Given the description of an element on the screen output the (x, y) to click on. 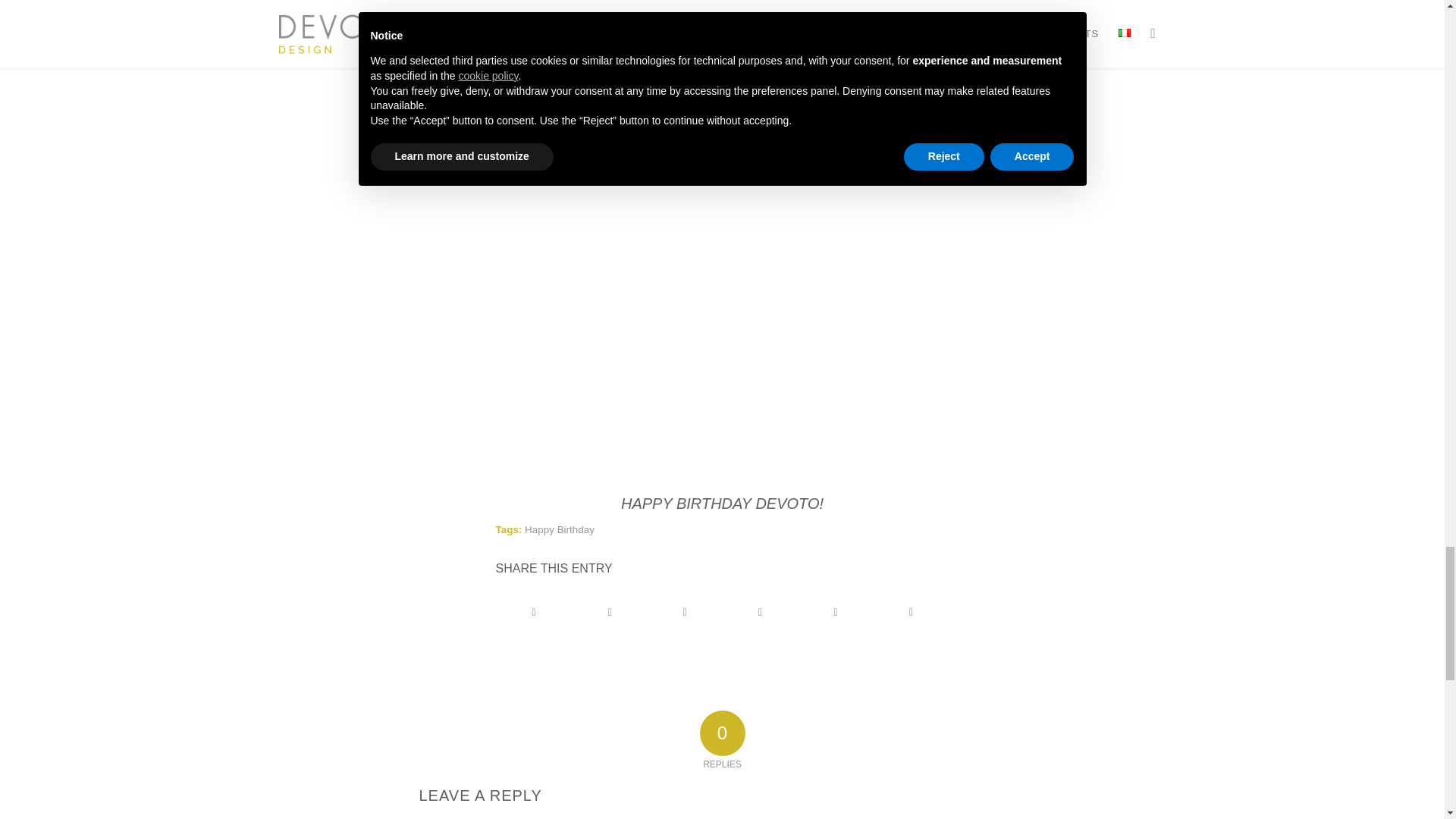
Happy Birthday (559, 529)
